Given the description of an element on the screen output the (x, y) to click on. 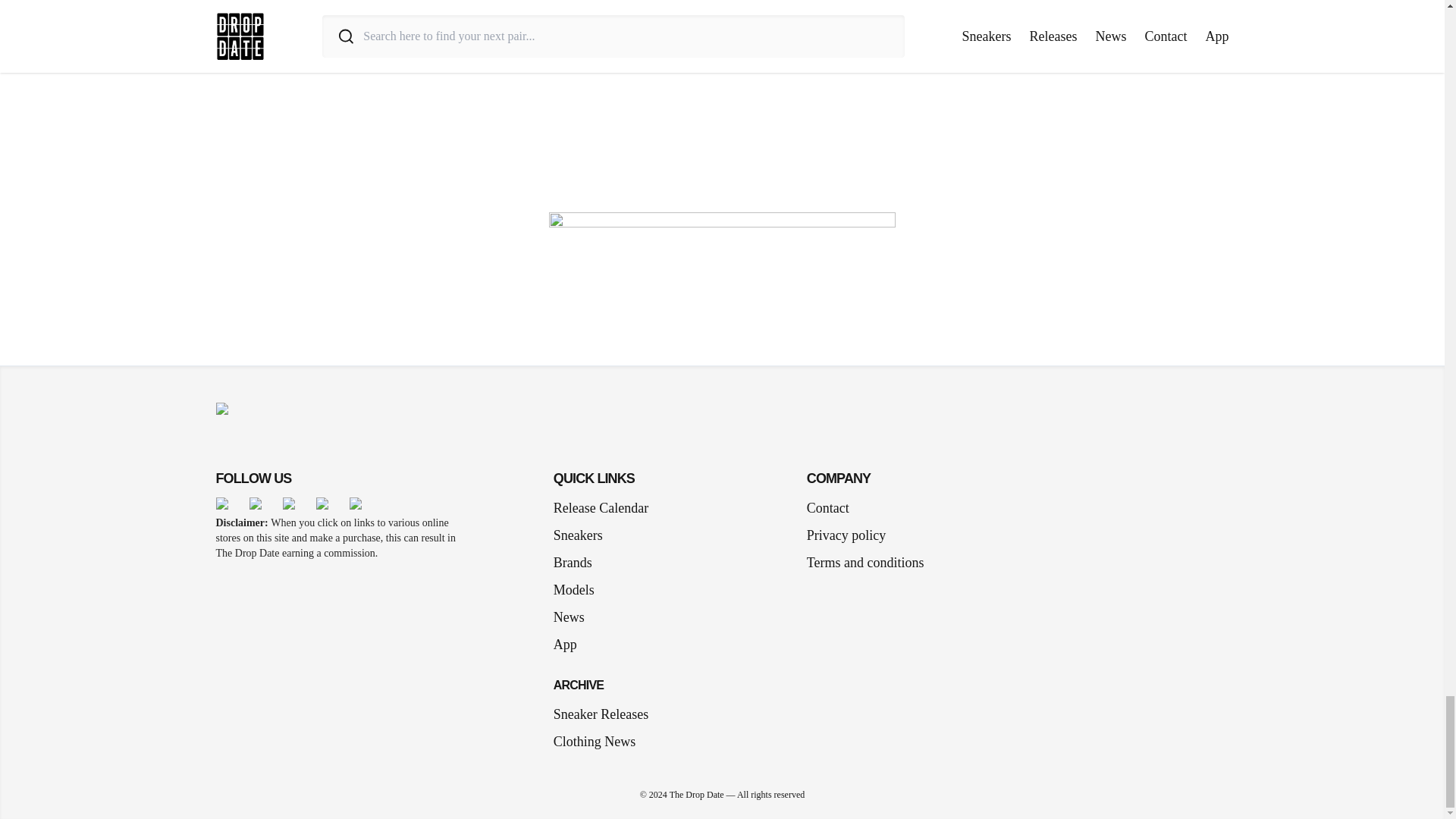
Sneaker Releases (600, 713)
App (571, 644)
Privacy policy (845, 535)
Contact (827, 507)
Models (580, 589)
Terms and conditions (865, 562)
Clothing News (594, 741)
Sneakers (583, 535)
News (574, 617)
Brands (578, 562)
